Given the description of an element on the screen output the (x, y) to click on. 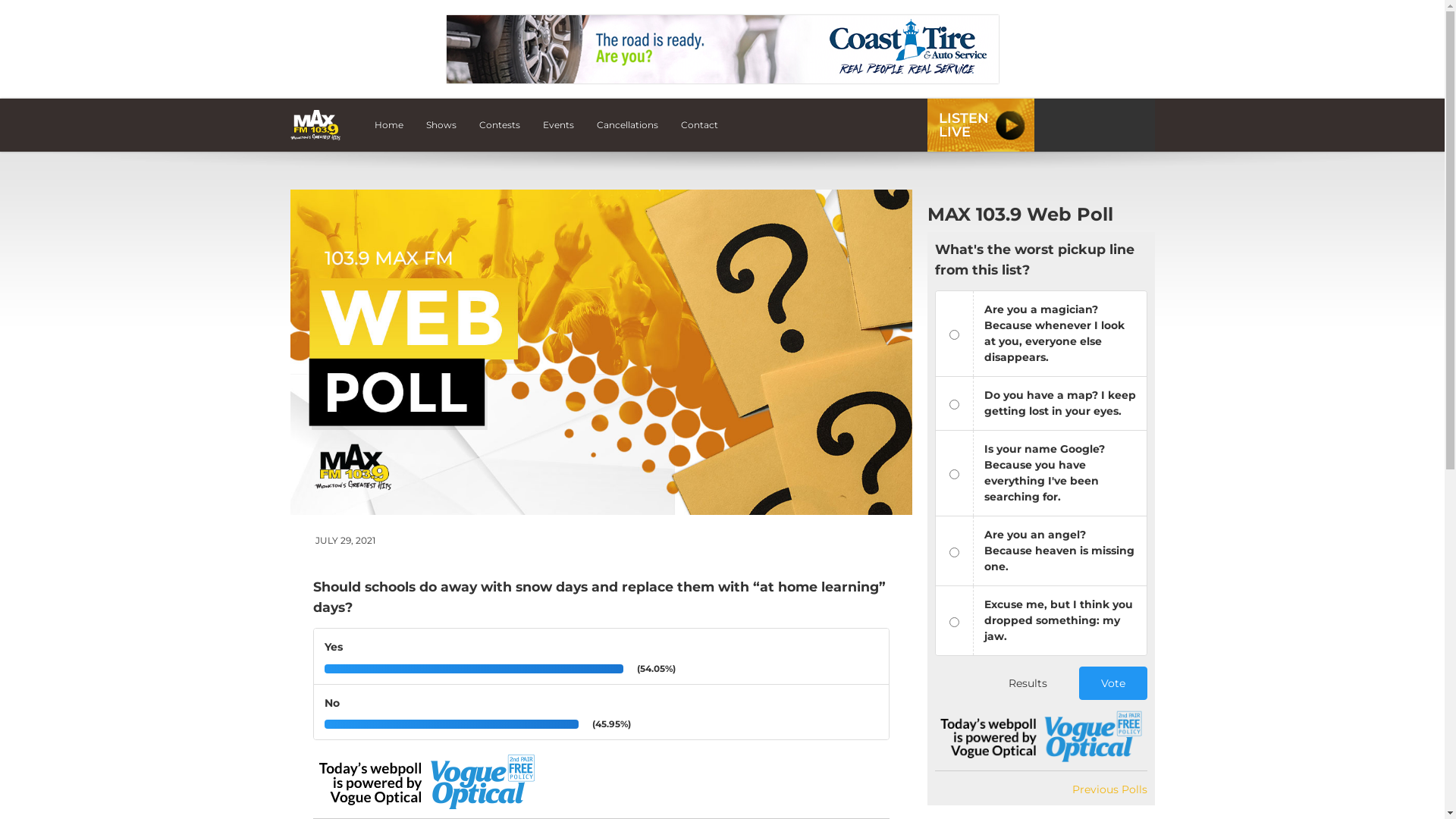
Shows Element type: text (440, 124)
Results Element type: text (1027, 683)
Home Element type: text (388, 124)
3rd party ad content Element type: hover (721, 49)
Vote Element type: text (1112, 682)
Contests Element type: text (499, 124)
Contact Element type: text (699, 124)
Cancellations Element type: text (627, 124)
LISTEN
LIVE Element type: text (979, 124)
Previous Polls Element type: text (1109, 789)
Events Element type: text (558, 124)
